Given the description of an element on the screen output the (x, y) to click on. 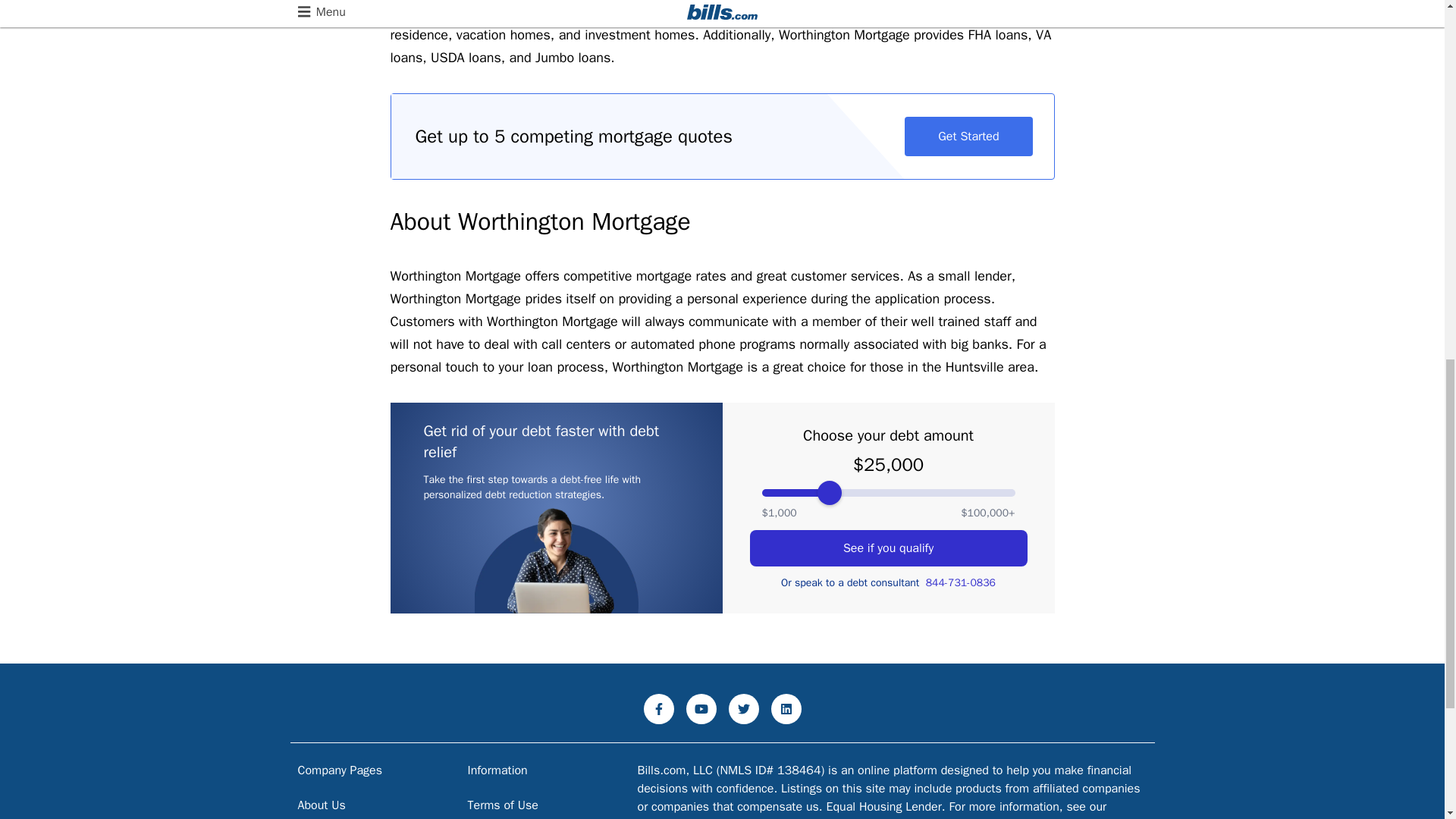
25000 (887, 492)
